Given the description of an element on the screen output the (x, y) to click on. 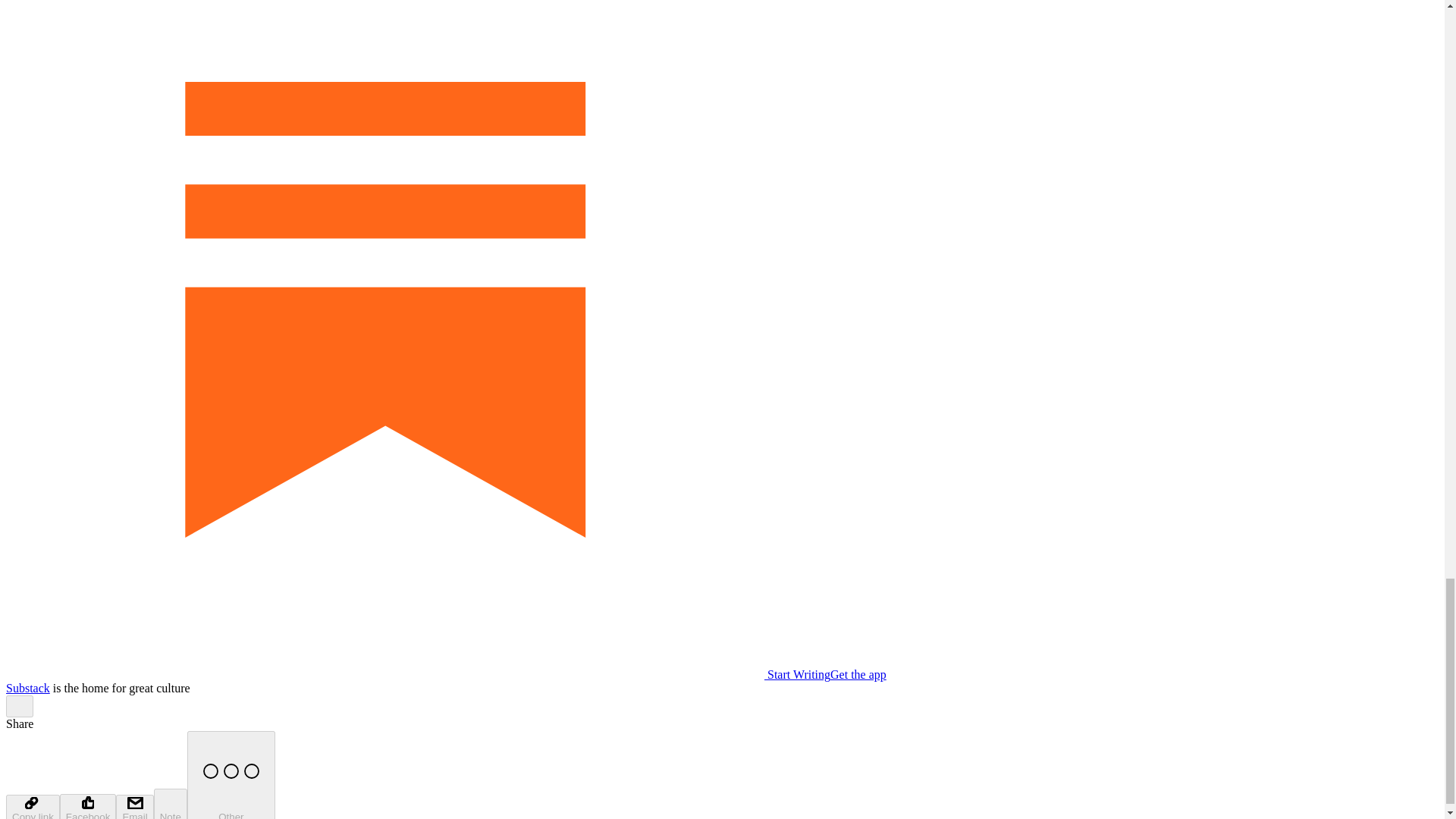
Start Writing (417, 674)
Substack (27, 687)
Get the app (857, 674)
